Given the description of an element on the screen output the (x, y) to click on. 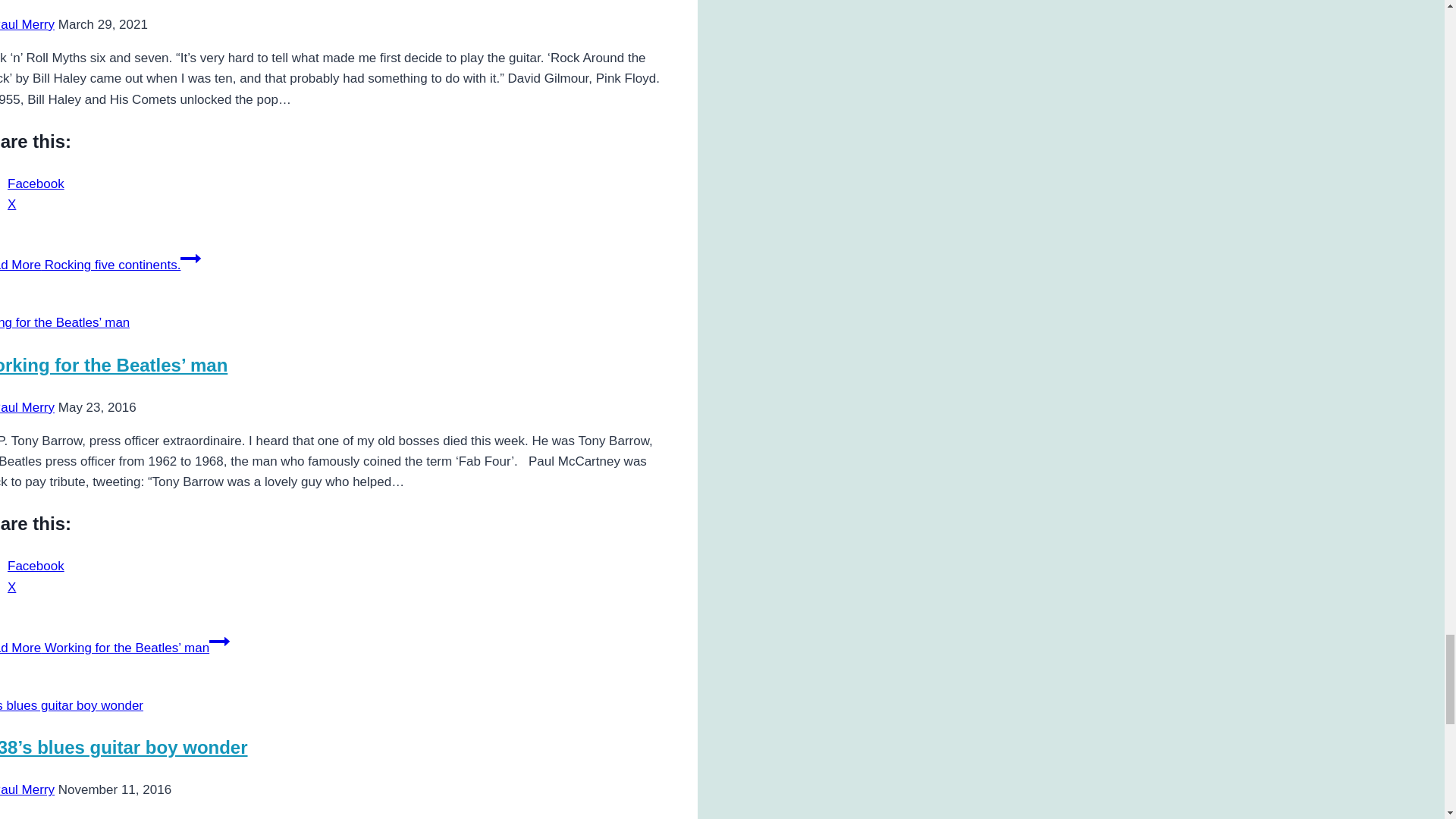
Click to share on Facebook (35, 565)
Continue (190, 258)
Facebook (35, 183)
Paul Merry (27, 24)
Read More Rocking five continents.Continue (100, 264)
Continue (219, 640)
Click to share on Facebook (35, 183)
